Given the description of an element on the screen output the (x, y) to click on. 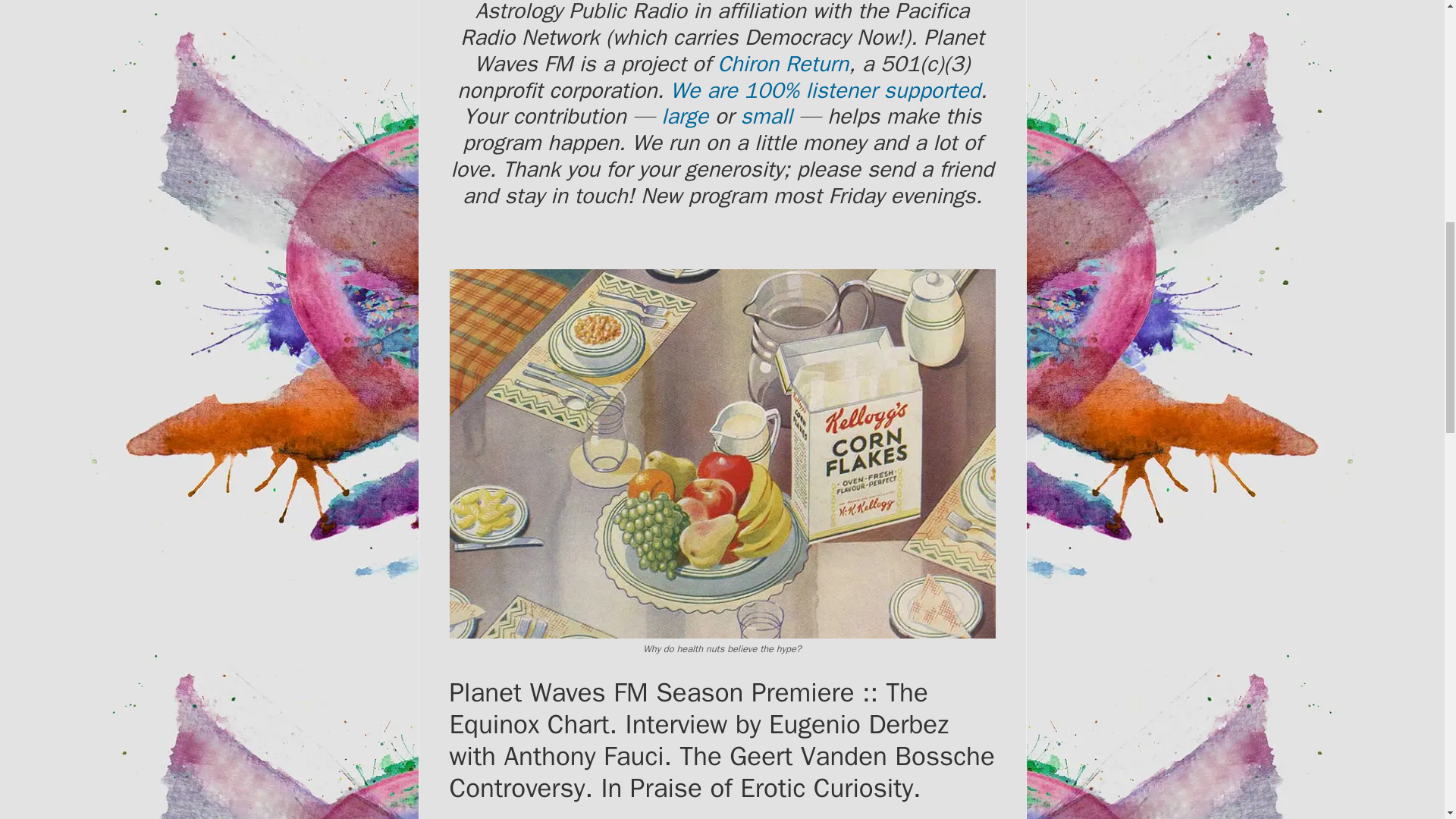
large (684, 116)
small (765, 116)
Chiron Return (782, 63)
